Given the description of an element on the screen output the (x, y) to click on. 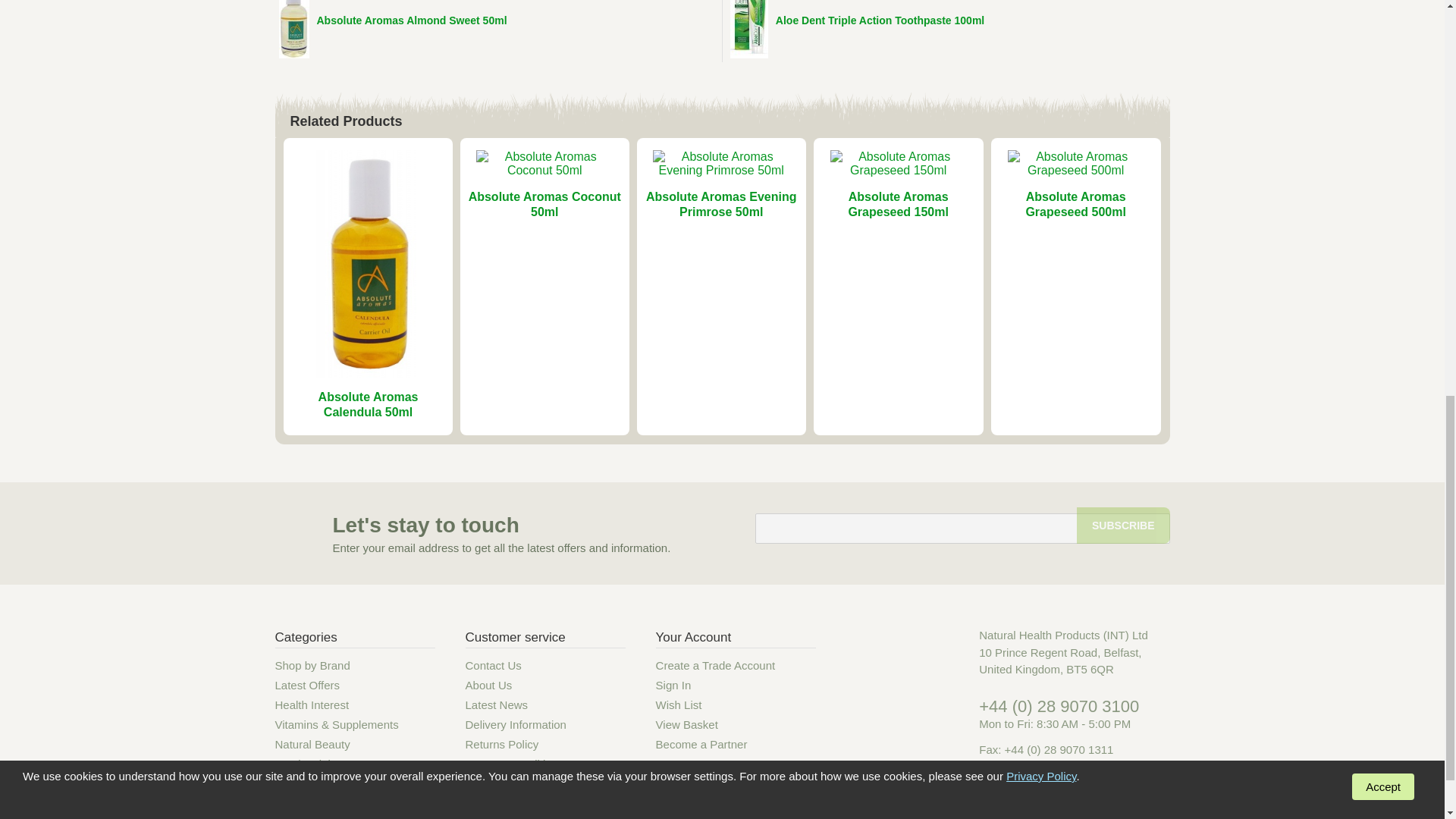
Absolute Aromas Calendula 50ml (368, 404)
Absolute Aromas Almond Sweet 50ml (411, 20)
Health Interest (312, 704)
Aloe Dent Triple Action Toothpaste 100ml (880, 20)
Absolute Aromas Grapeseed 500ml (1075, 204)
Latest Offers (307, 685)
Absolute Aromas Grapeseed 150ml (898, 204)
SUBSCRIBE (1123, 524)
Absolute Aromas Coconut 50ml (544, 204)
Shop by Brand (312, 665)
